Given the description of an element on the screen output the (x, y) to click on. 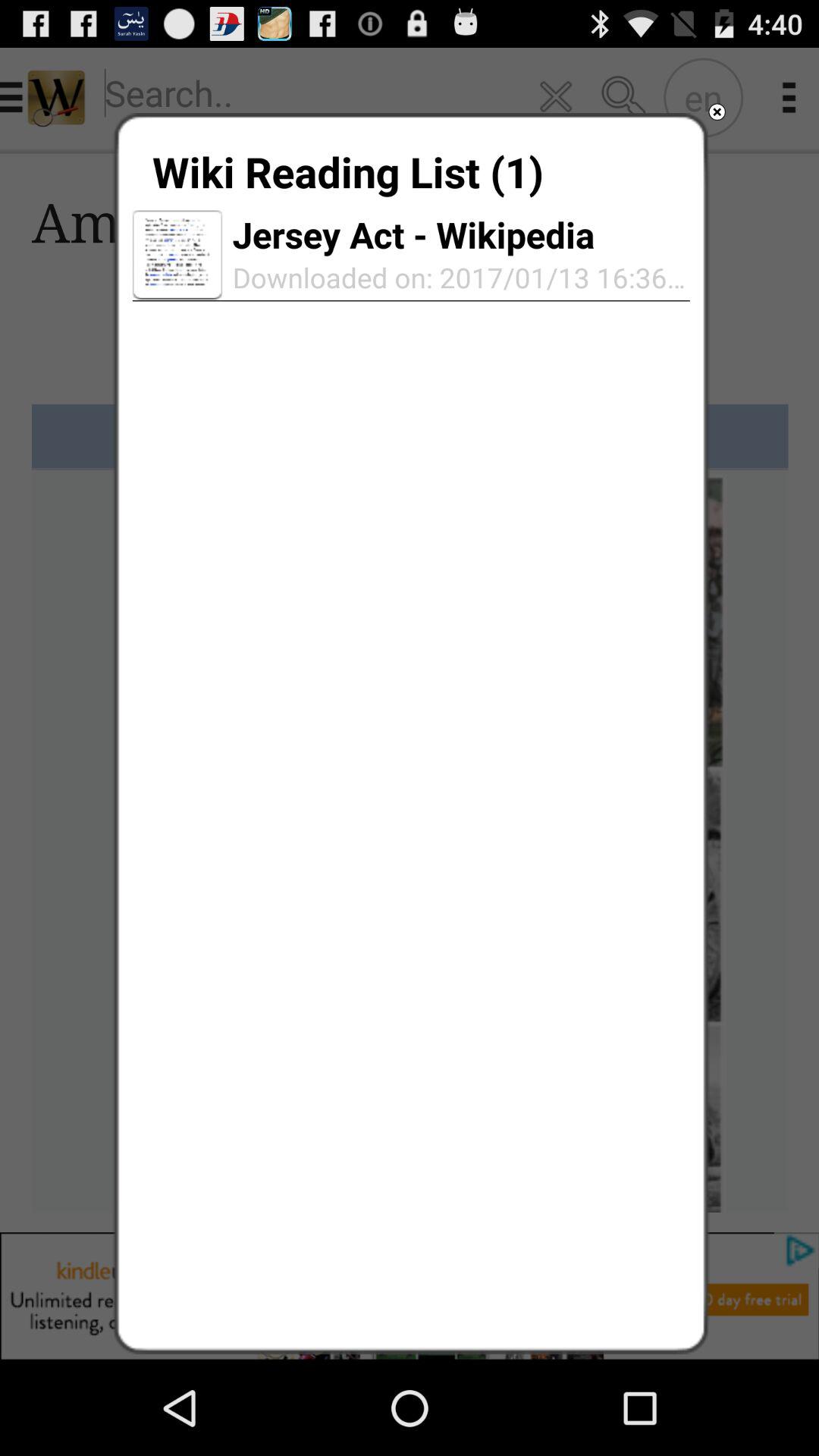
launch the item next to the wiki reading list item (716, 111)
